Given the description of an element on the screen output the (x, y) to click on. 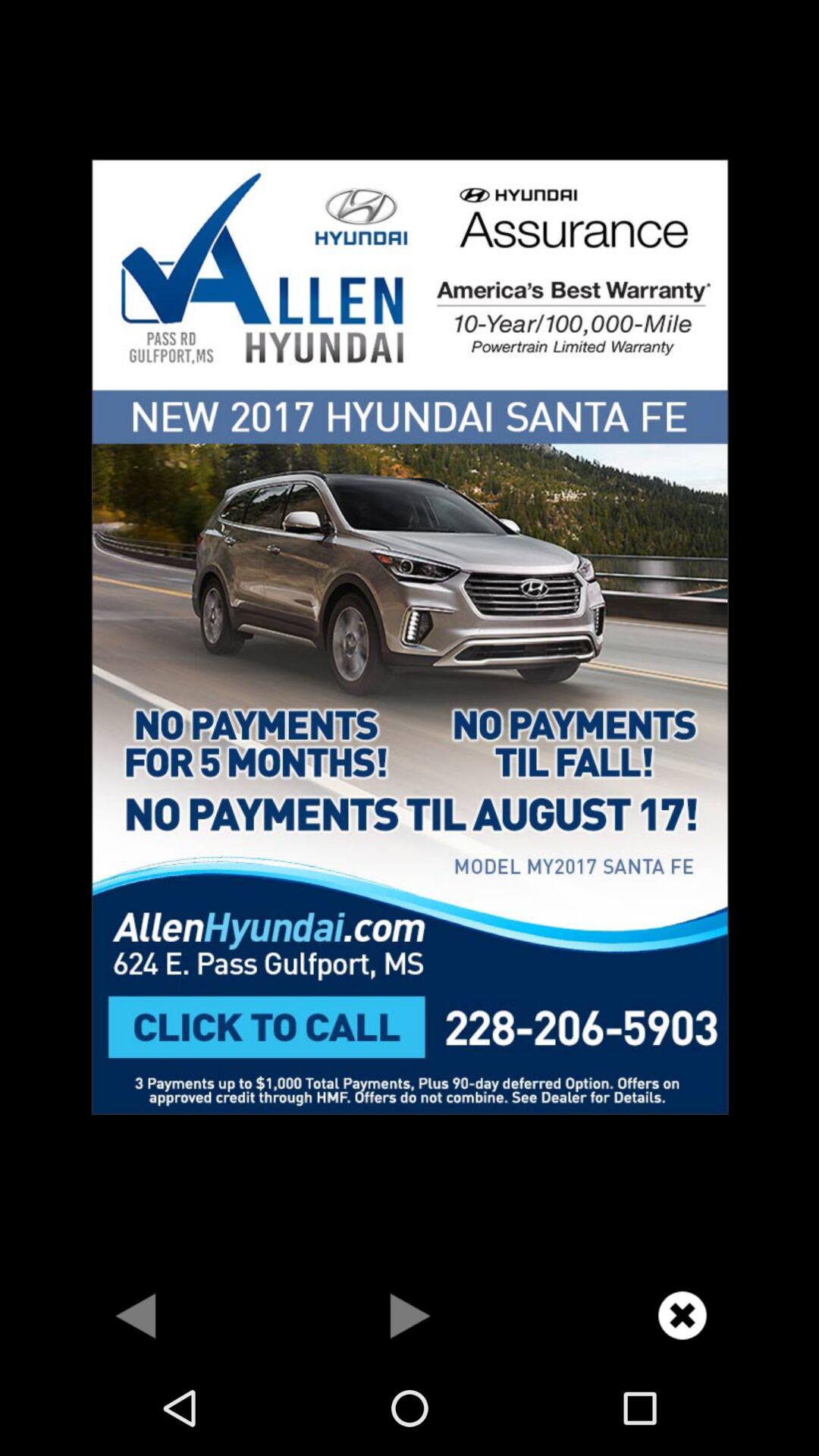
go forward (409, 1315)
